Given the description of an element on the screen output the (x, y) to click on. 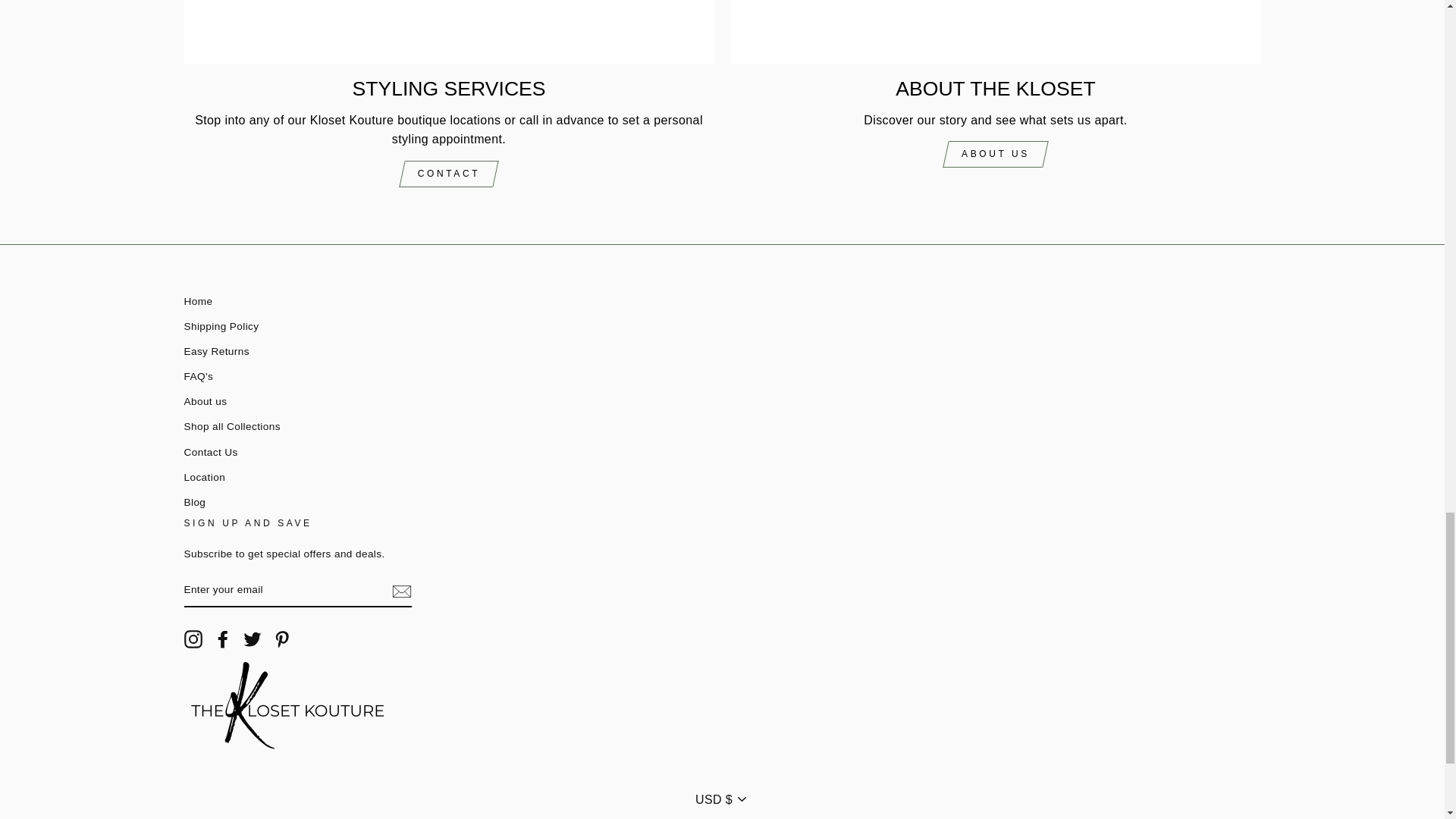
THEKLOSETKOUTURE.COM on Facebook (222, 638)
THEKLOSETKOUTURE.COM on Pinterest (282, 638)
THEKLOSETKOUTURE.COM on Instagram (192, 638)
THEKLOSETKOUTURE.COM on Twitter (251, 638)
